Given the description of an element on the screen output the (x, y) to click on. 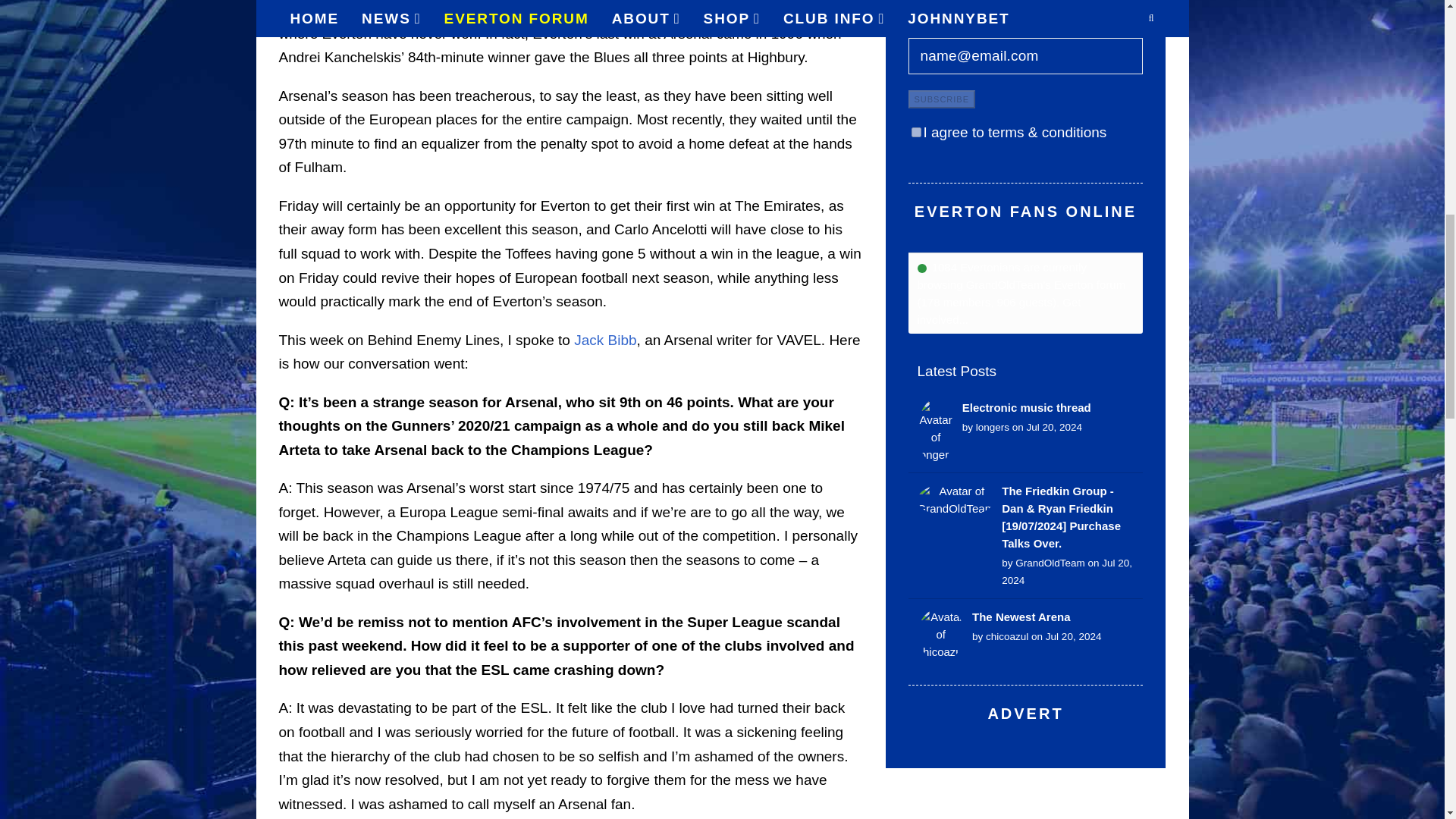
on (916, 132)
Subscribe (941, 99)
